Given the description of an element on the screen output the (x, y) to click on. 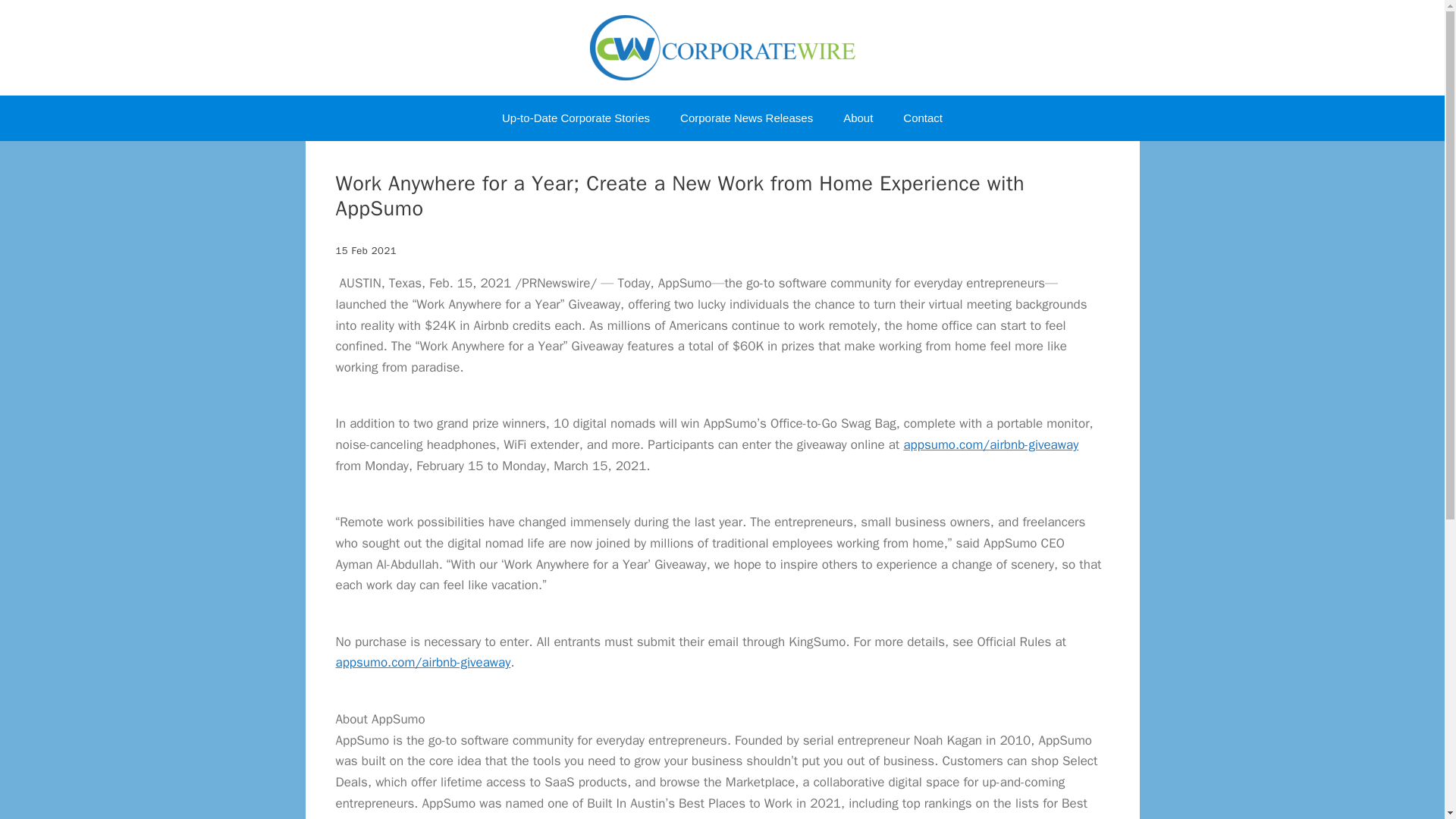
Corporate News Releases (746, 117)
About (858, 117)
Up-to-Date Corporate Stories (575, 117)
Contact (923, 117)
